Given the description of an element on the screen output the (x, y) to click on. 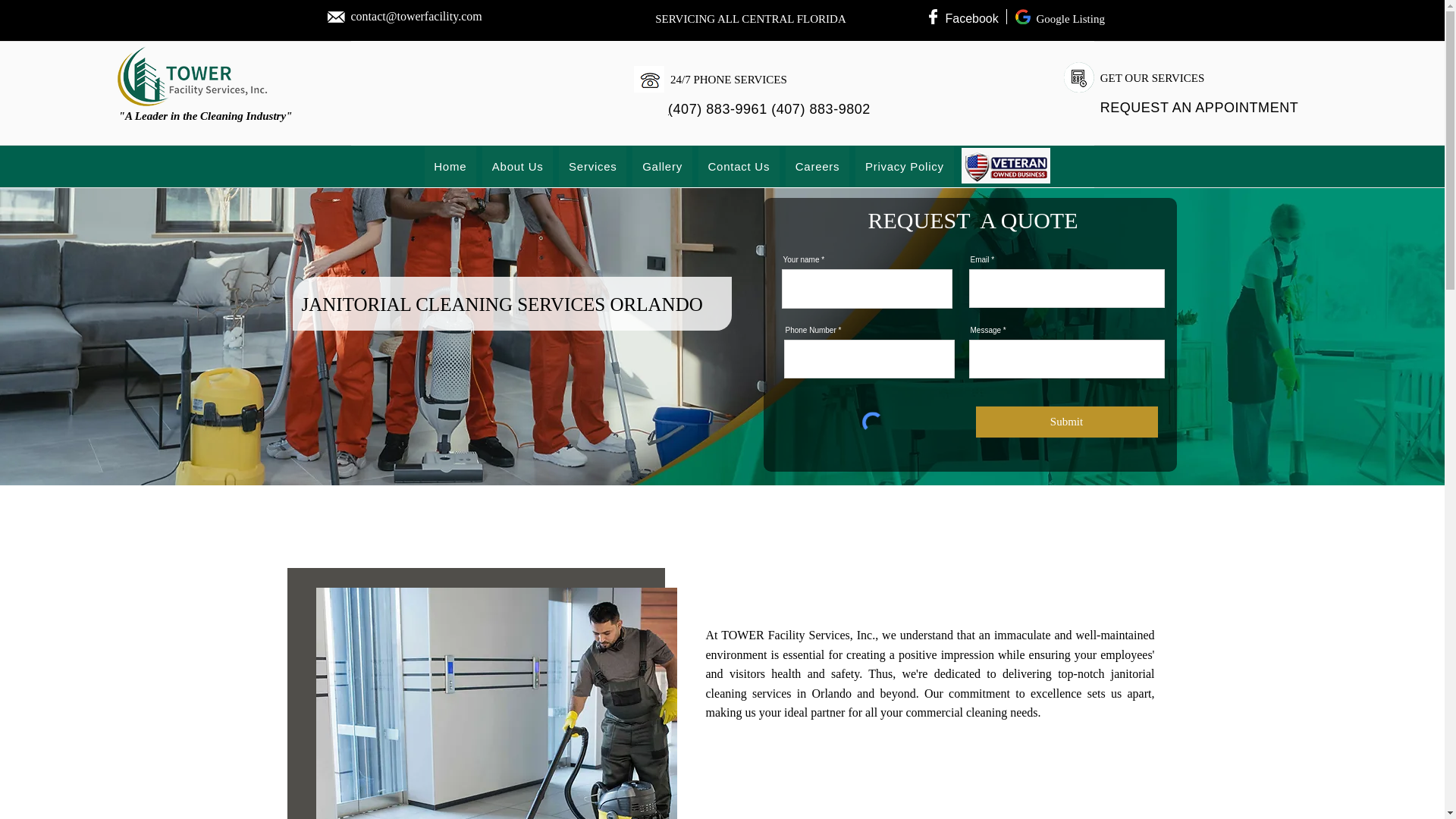
Tower Facility Services Logo (648, 79)
Tower Facility Services Logo (1079, 77)
Facebook (970, 18)
Google Listing (1069, 18)
Tower Facility Services Logo (191, 76)
Privacy Policy (904, 166)
Home (451, 166)
Careers (817, 166)
Submit (1066, 421)
